Given the description of an element on the screen output the (x, y) to click on. 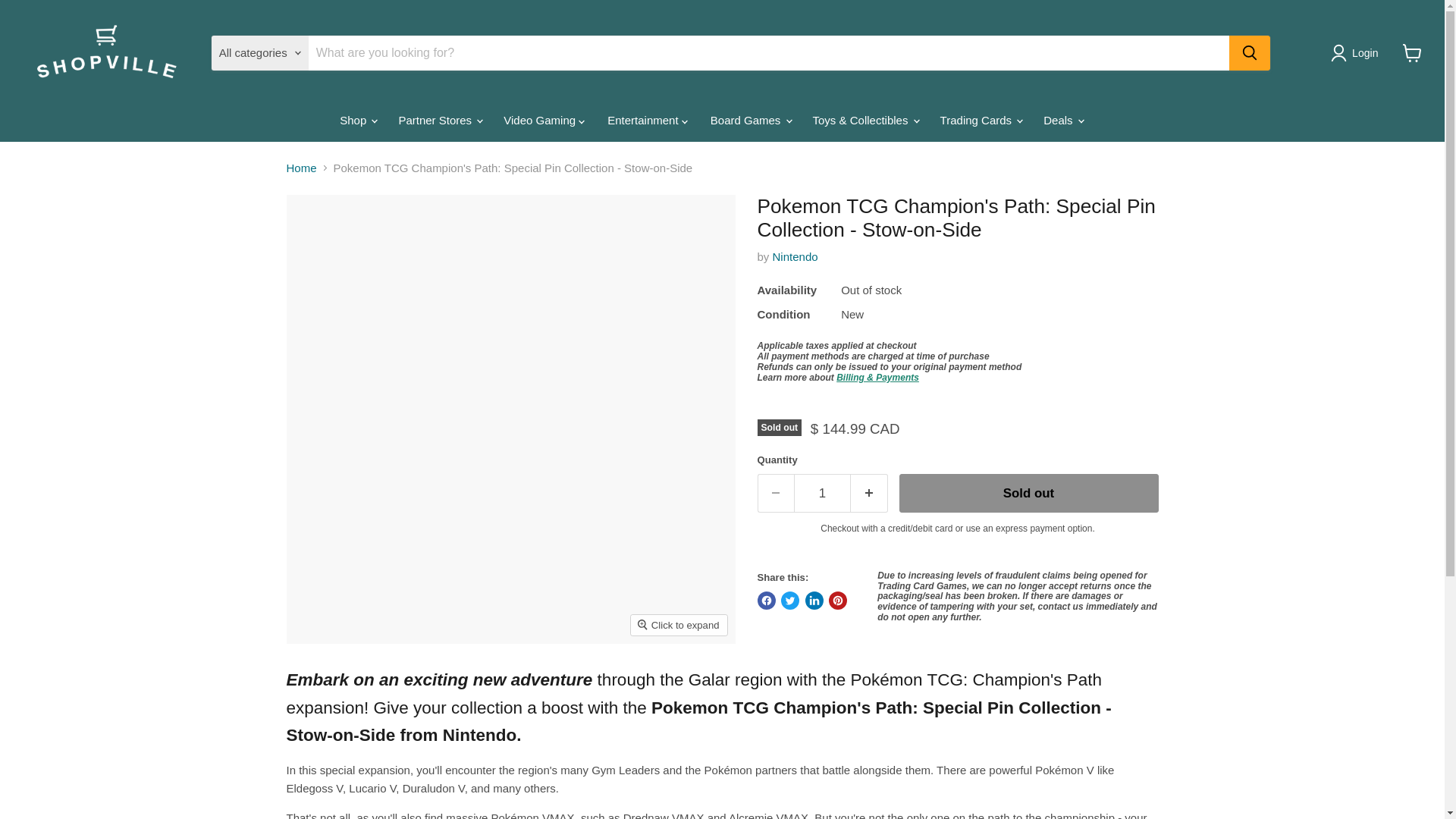
Nintendo (795, 256)
Login (1357, 53)
View cart (1411, 52)
1 (821, 492)
